Given the description of an element on the screen output the (x, y) to click on. 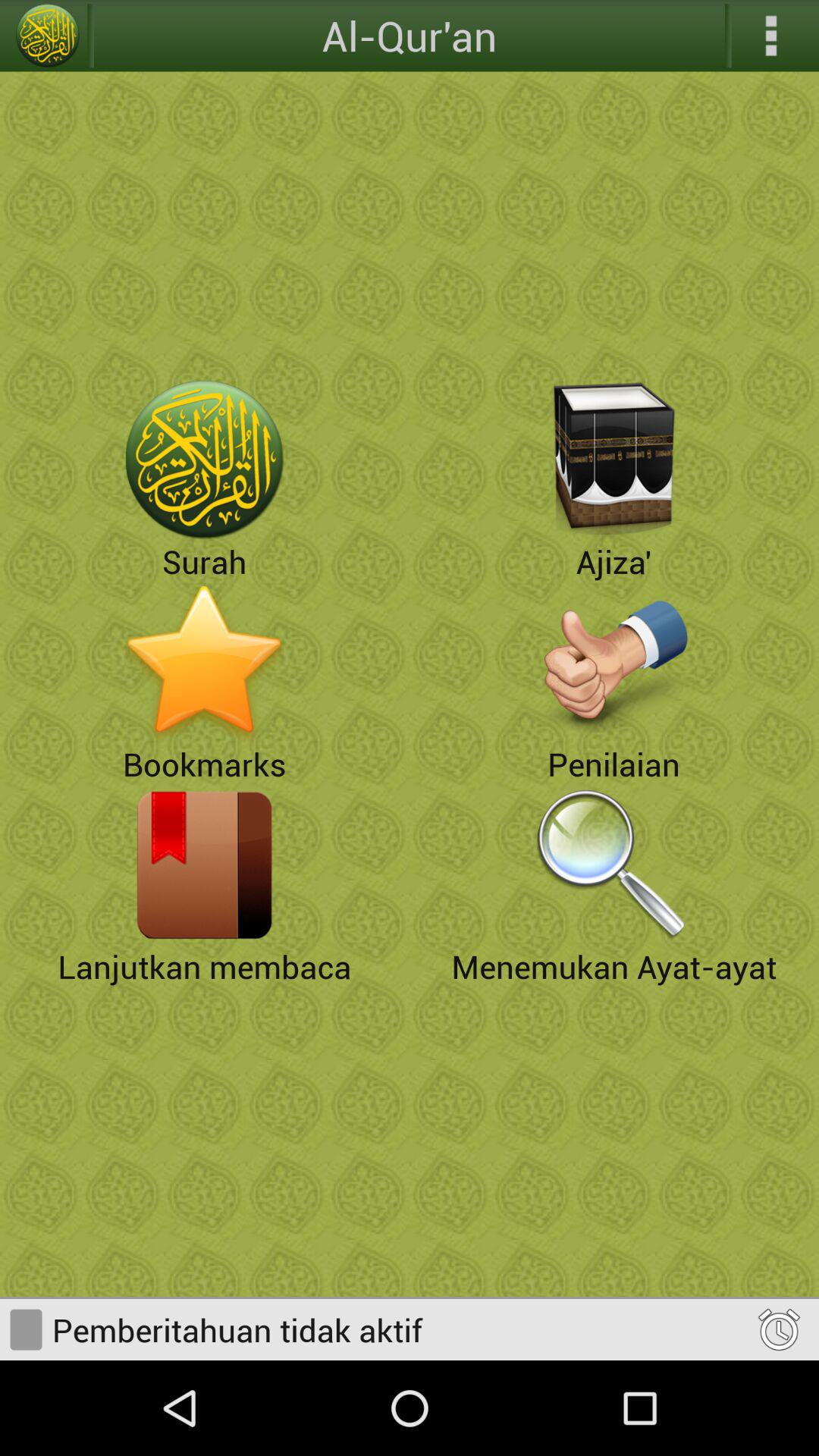
surah logo (204, 459)
